Given the description of an element on the screen output the (x, y) to click on. 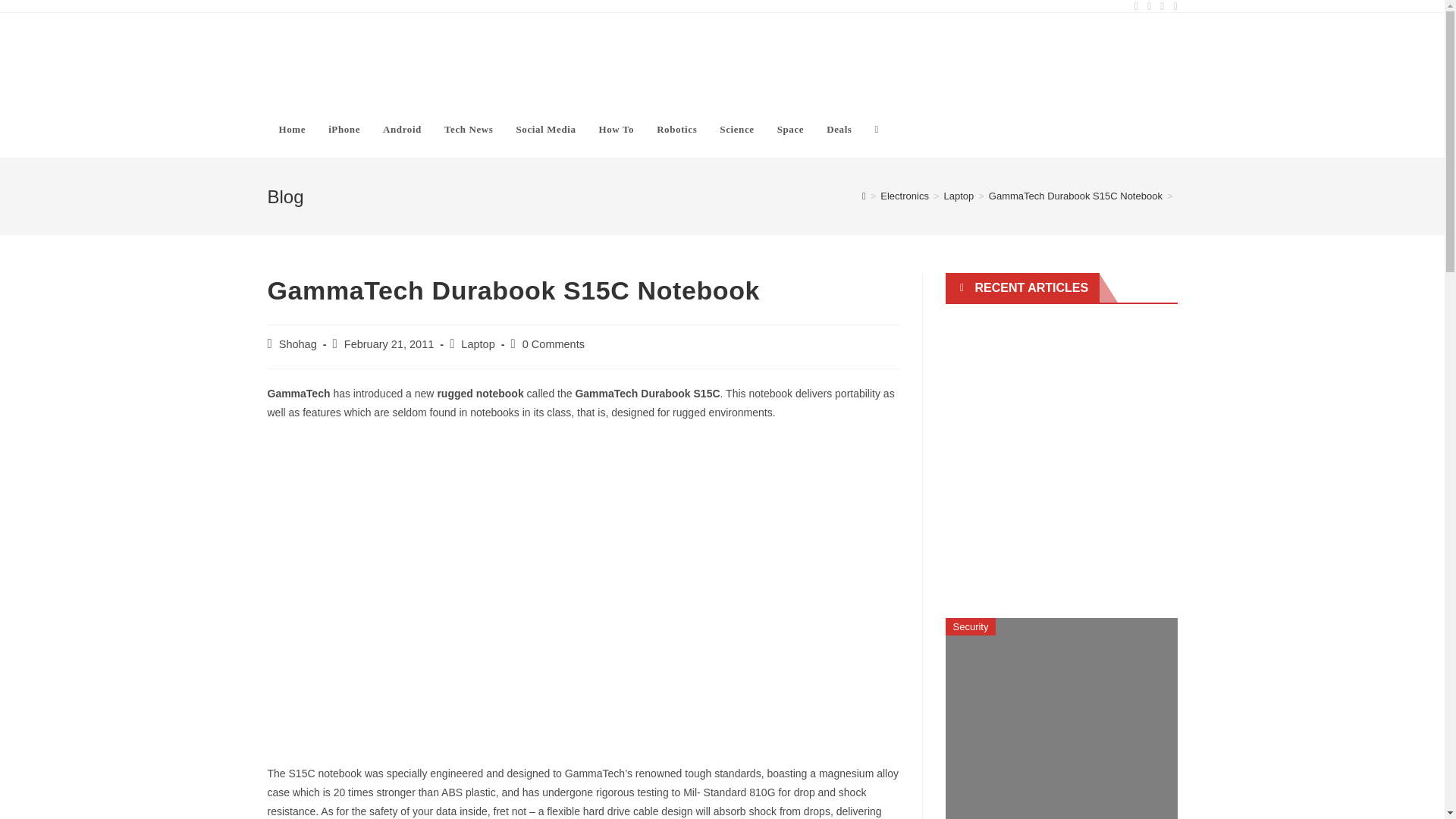
GammaTech Durabook S15C Notebook (1074, 195)
Space (790, 129)
0 Comments (553, 344)
Robotics (676, 129)
Android (401, 129)
Shohag (298, 344)
Science (736, 129)
Home (291, 129)
Posts by Shohag (298, 344)
Electronics (904, 195)
Security (969, 626)
Social Media (544, 129)
How To (617, 129)
Laptop (478, 344)
Tech News (468, 129)
